Given the description of an element on the screen output the (x, y) to click on. 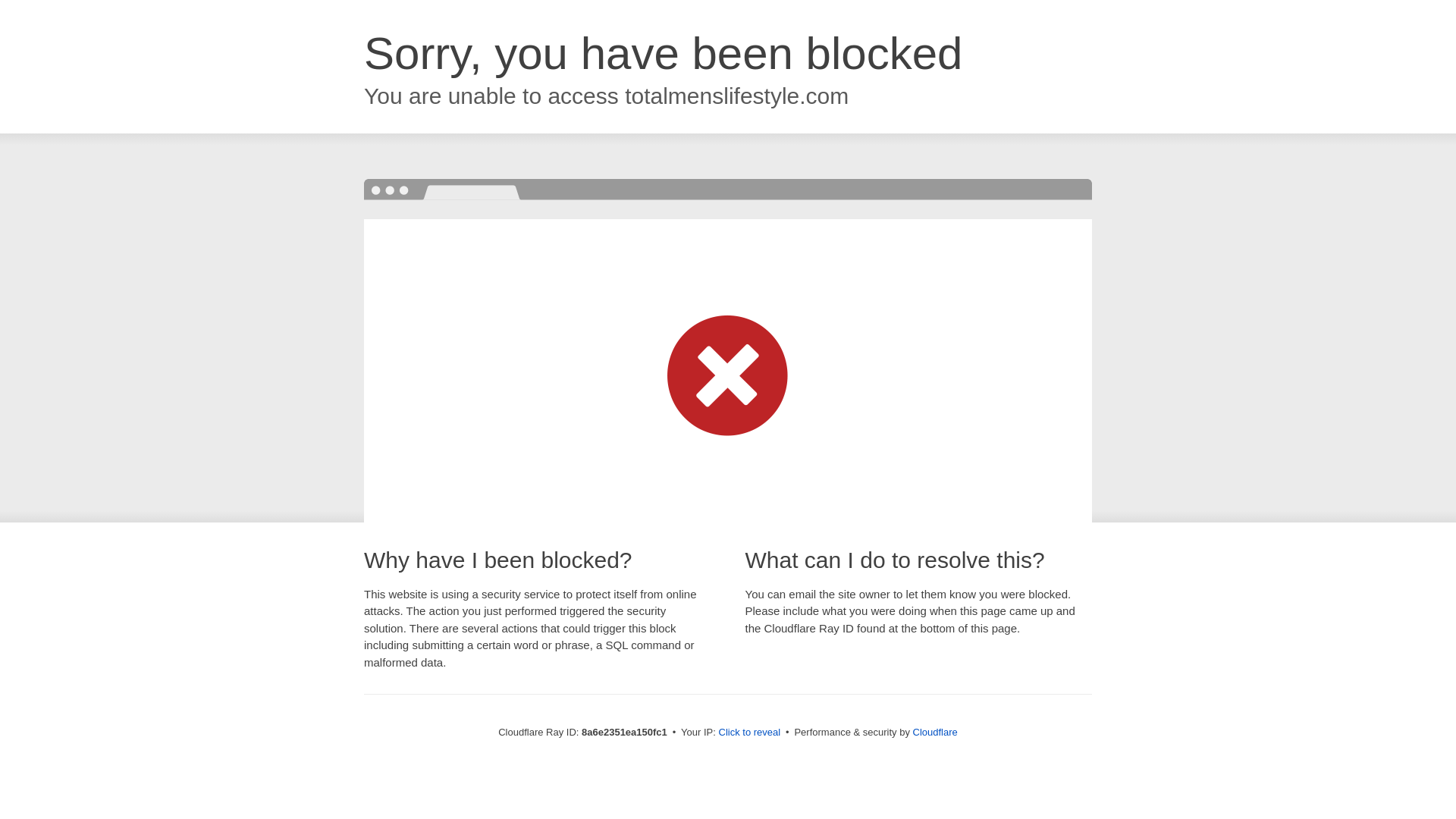
Click to reveal (749, 732)
Cloudflare (935, 731)
